Given the description of an element on the screen output the (x, y) to click on. 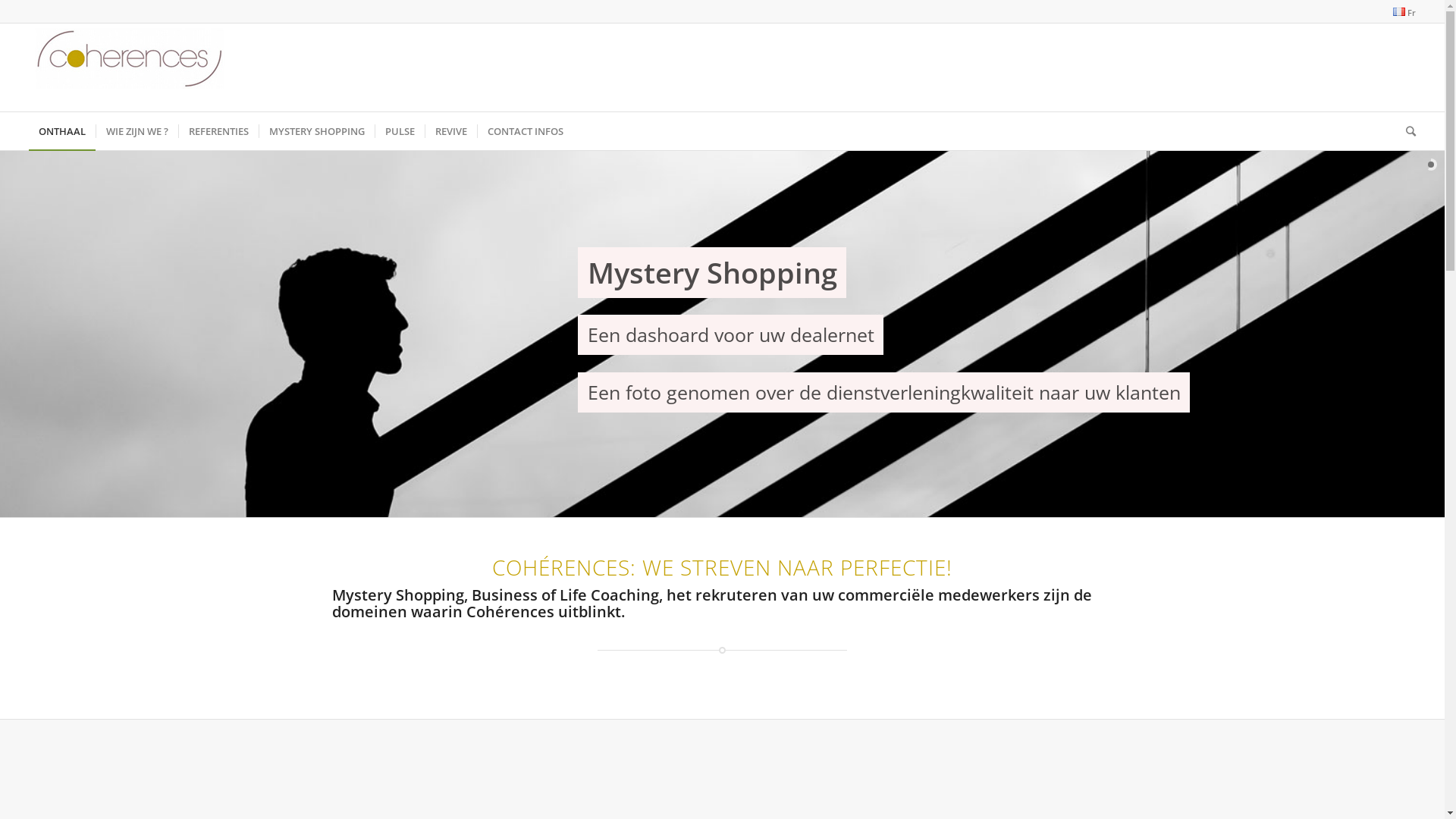
Fr Element type: hover (1399, 11)
CONTACT INFOS Element type: text (524, 131)
Fr Element type: text (1404, 12)
WIE ZIJN WE ? Element type: text (136, 131)
REVIVE Element type: text (450, 131)
MYSTERY SHOPPING Element type: text (316, 131)
ONTHAAL Element type: text (61, 131)
REFERENTIES Element type: text (218, 131)
PULSE Element type: text (399, 131)
